Given the description of an element on the screen output the (x, y) to click on. 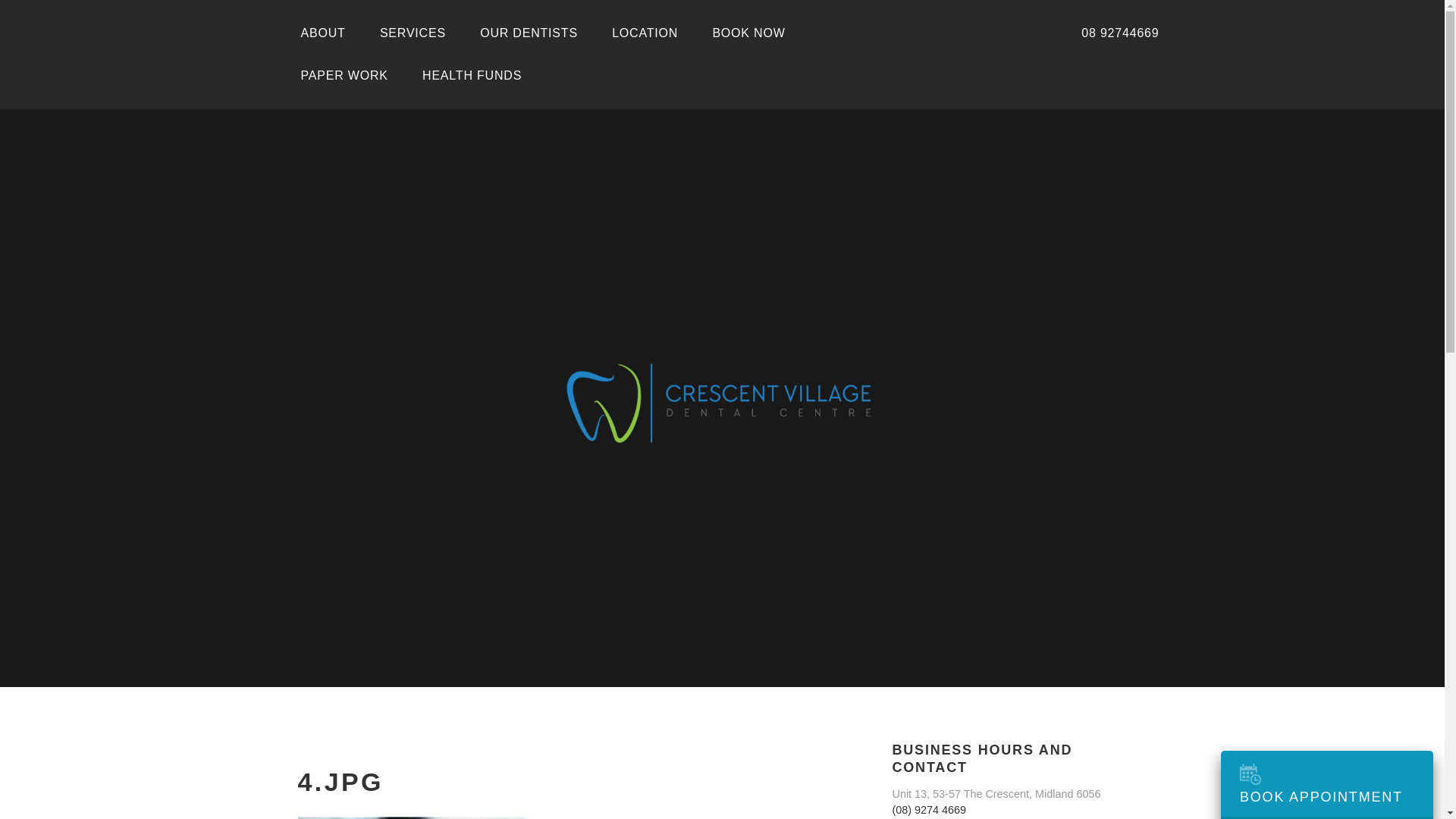
HEALTH FUNDS Element type: text (471, 75)
PAPER WORK Element type: text (343, 75)
ABOUT Element type: text (322, 33)
LOCATION Element type: text (644, 33)
BOOK NOW Element type: text (748, 33)
SERVICES Element type: text (412, 33)
Unit 13, 53-57 The Crescent, Midland 6056 Element type: text (995, 793)
OUR DENTISTS Element type: text (528, 33)
